Given the description of an element on the screen output the (x, y) to click on. 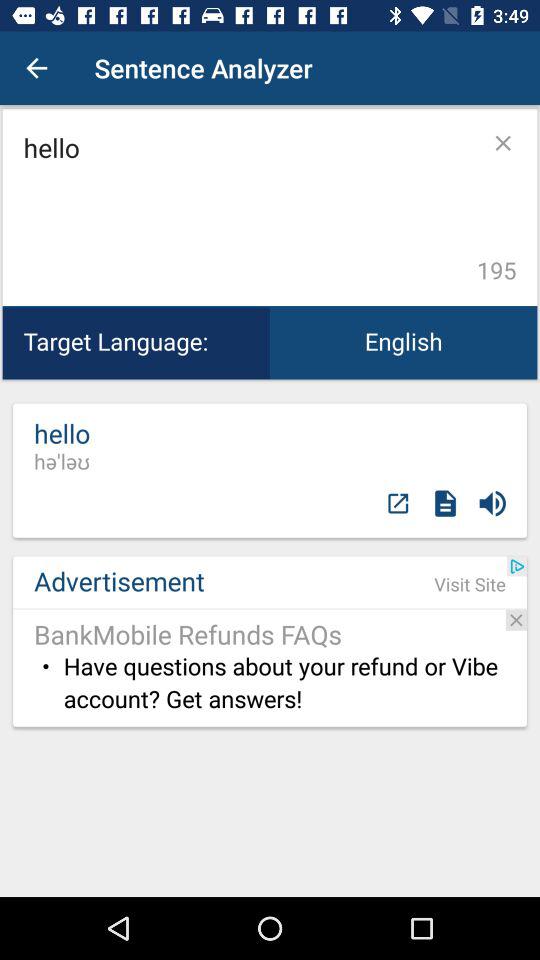
turn off the icon at the top left corner (36, 68)
